Given the description of an element on the screen output the (x, y) to click on. 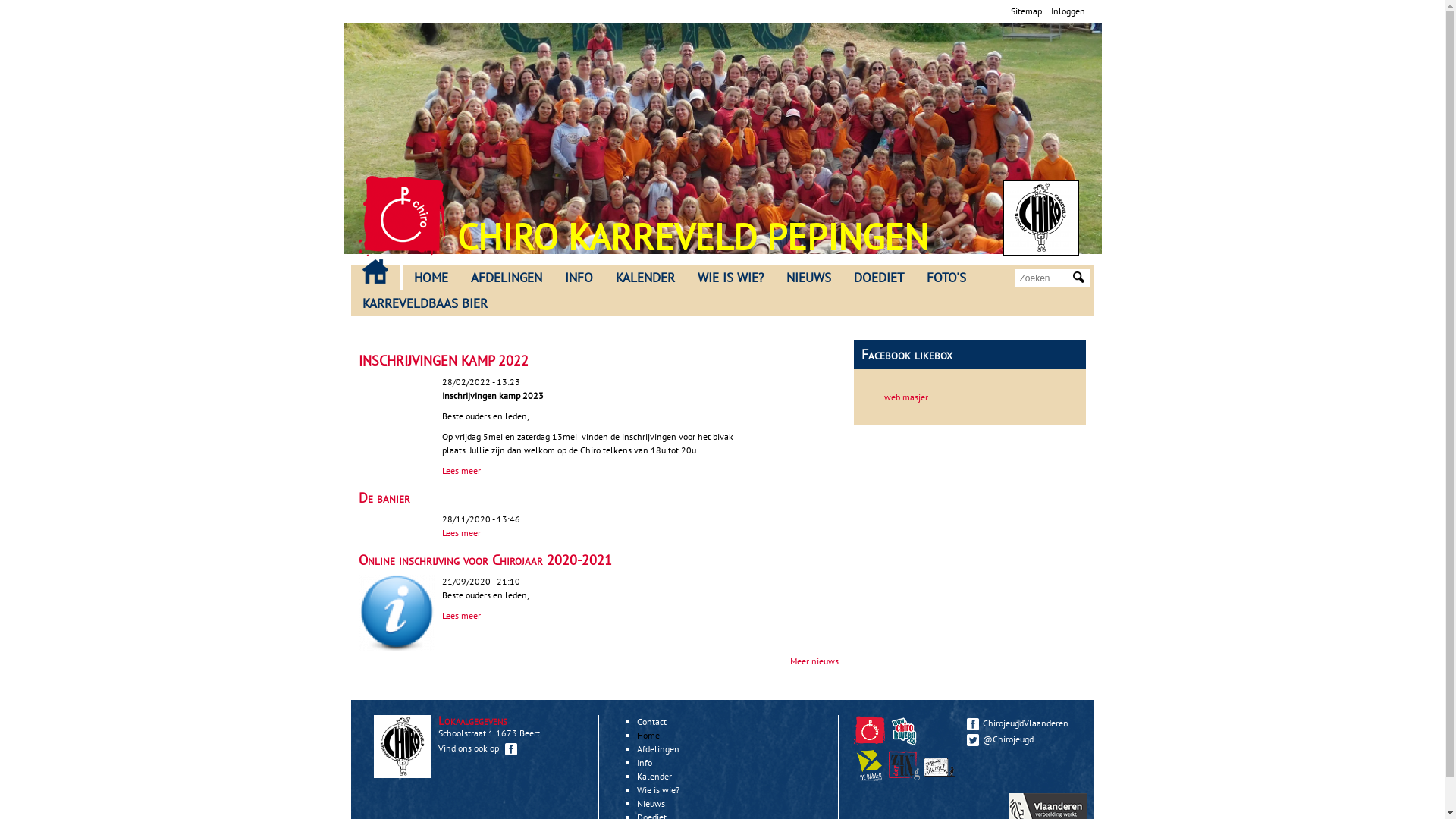
Lees meer Element type: text (460, 470)
NIEUWS Element type: text (808, 278)
Contact Element type: text (651, 721)
Chirojeugd Vlaanderen Element type: hover (868, 730)
De Banier Element type: hover (868, 765)
CONTACT Element type: text (374, 271)
Zindering Element type: hover (940, 777)
Facebook Element type: hover (511, 749)
Verbond Brussel Element type: hover (938, 765)
Lees meer Element type: text (460, 615)
HOME Element type: text (429, 278)
Sitemap Element type: text (1025, 10)
INFO Element type: text (578, 278)
Online inschrijving voor Chirojaar 2020-2021 Element type: text (484, 559)
ChirojeugdVlaanderen Element type: text (1022, 723)
Facebook Element type: hover (972, 724)
Jump to navigation Element type: text (722, 2)
web.masjer Element type: text (906, 396)
KARREVELDBAAS BIER Element type: text (424, 303)
WIE IS WIE? Element type: text (729, 278)
AFDELINGEN Element type: text (506, 278)
Nieuws Element type: text (651, 803)
DOEDIET Element type: text (877, 278)
Inloggen Element type: text (1068, 10)
Meer nieuws Element type: text (814, 660)
Kalender Element type: text (654, 775)
Home Element type: hover (401, 215)
Home Element type: hover (1040, 217)
Chirohuizen Element type: hover (903, 730)
Afdelingen Element type: text (658, 748)
Zindering Element type: hover (905, 777)
INSCHRIJVINGEN KAMP 2022 Element type: text (442, 360)
De banier Element type: text (383, 497)
Wie is wie? Element type: text (658, 789)
De Banier Element type: hover (870, 777)
Chirojeugd Vlaanderen Element type: hover (870, 742)
Geef de woorden op waarnaar u wilt zoeken. Element type: hover (1043, 277)
Twitter Element type: hover (972, 740)
Home Element type: text (648, 734)
Lees meer Element type: text (460, 532)
Chirohuizen Element type: hover (905, 742)
CHIRO KARREVELD PEPINGEN Element type: text (691, 236)
KALENDER Element type: text (644, 278)
@Chirojeugd Element type: text (1022, 738)
FOTO'S Element type: text (945, 278)
Zindering Element type: hover (903, 765)
Info Element type: text (644, 762)
